Given the description of an element on the screen output the (x, y) to click on. 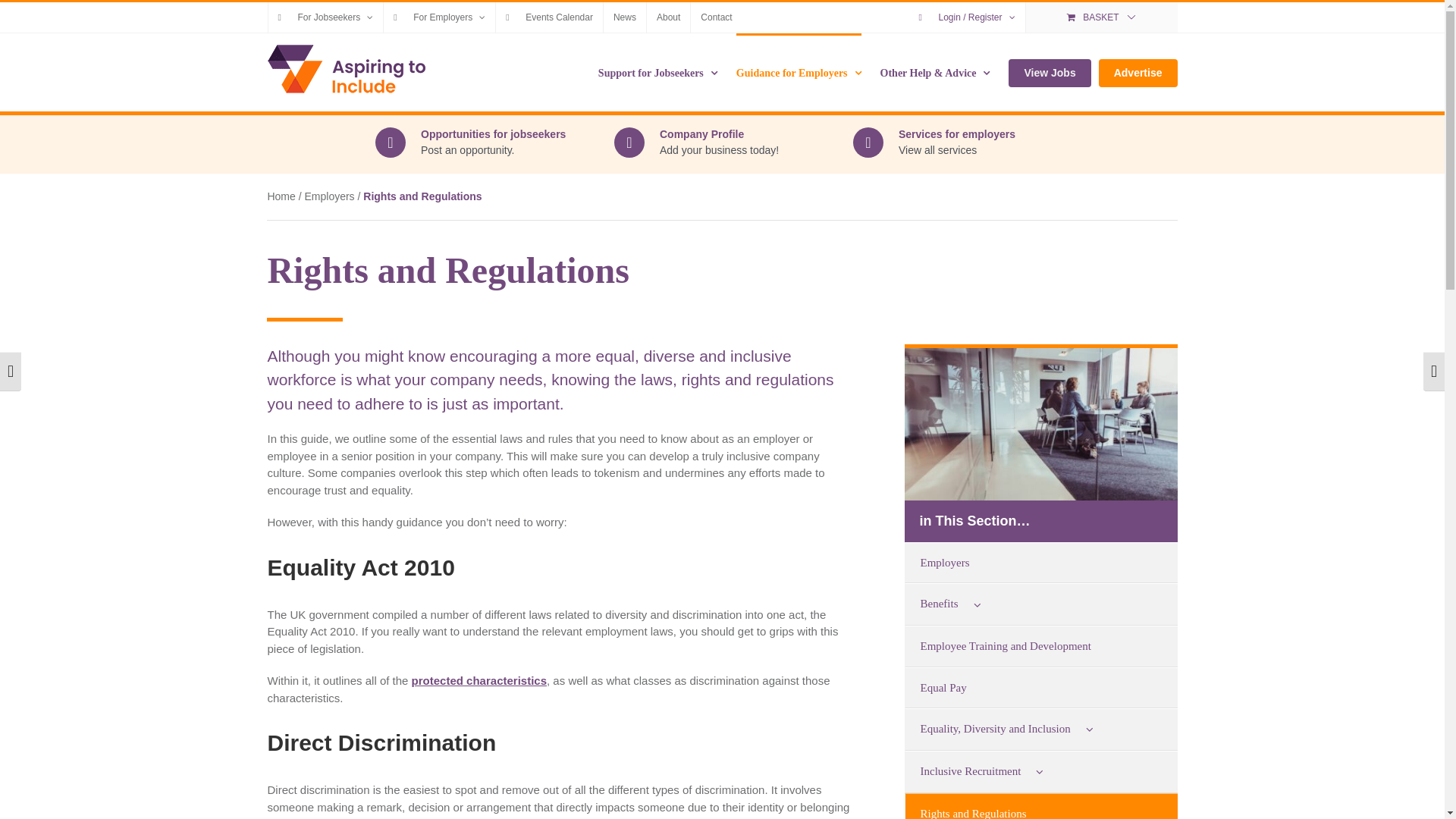
Contact (715, 17)
For Jobseekers (325, 17)
For Employers (439, 17)
Events Calendar (549, 17)
BASKET (1101, 17)
News (625, 17)
About (668, 17)
